Given the description of an element on the screen output the (x, y) to click on. 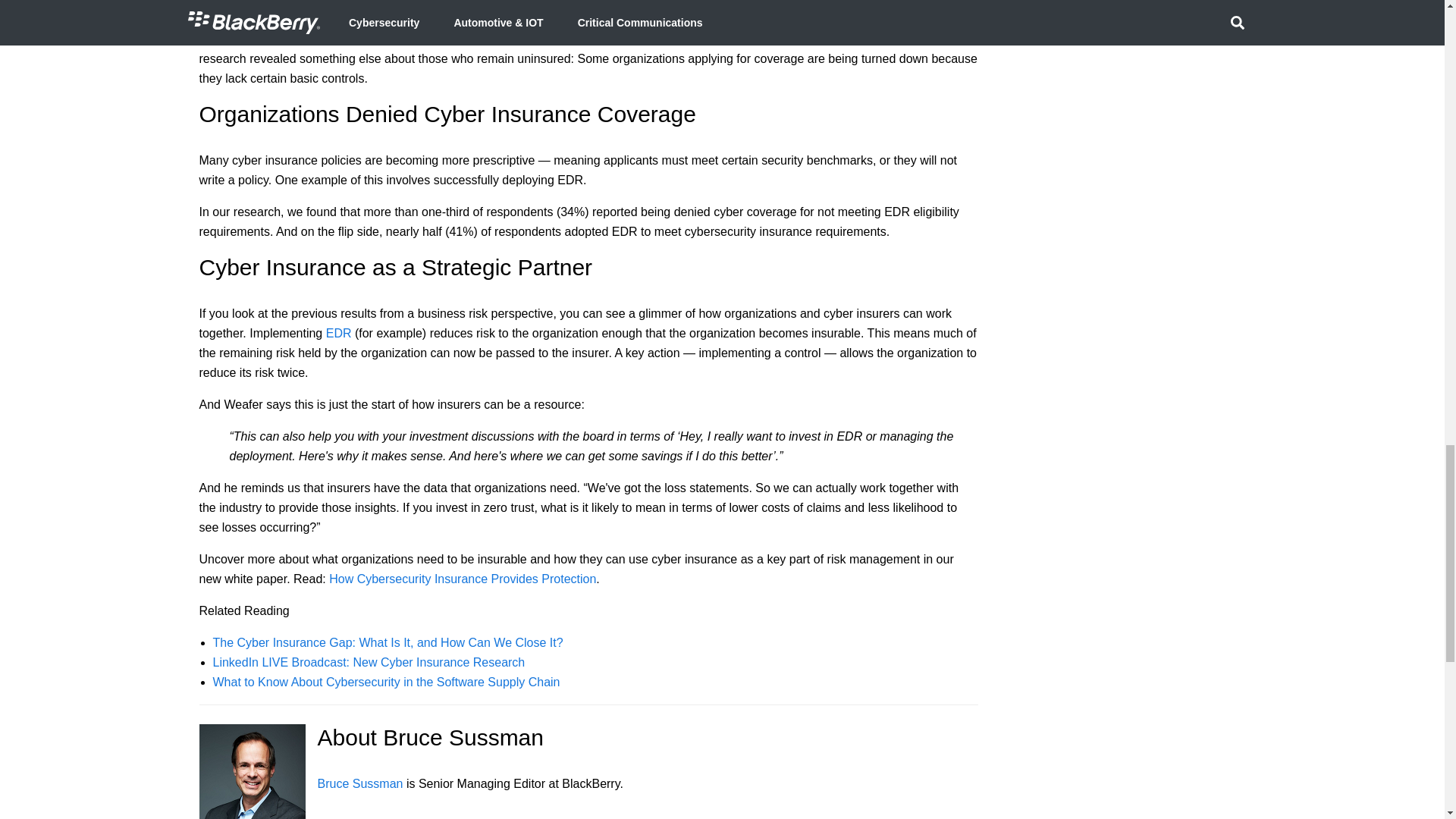
How Cybersecurity Insurance Provides Protection (462, 577)
Bruce Sussman (360, 783)
EDR (339, 332)
white paper (726, 38)
LinkedIn LIVE Broadcast: New Cyber Insurance Research (368, 661)
